Given the description of an element on the screen output the (x, y) to click on. 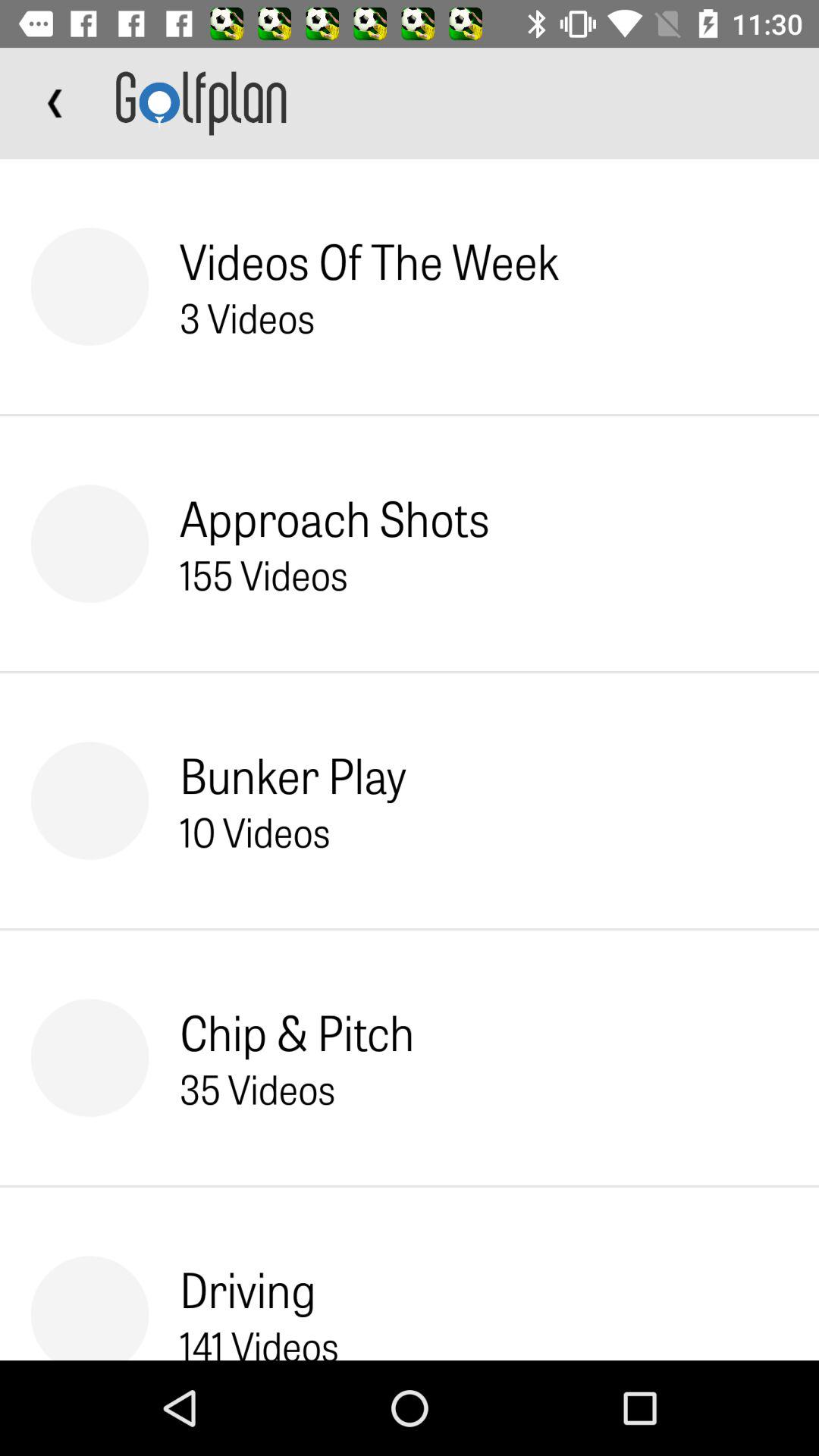
turn off chip & pitch item (296, 1031)
